Given the description of an element on the screen output the (x, y) to click on. 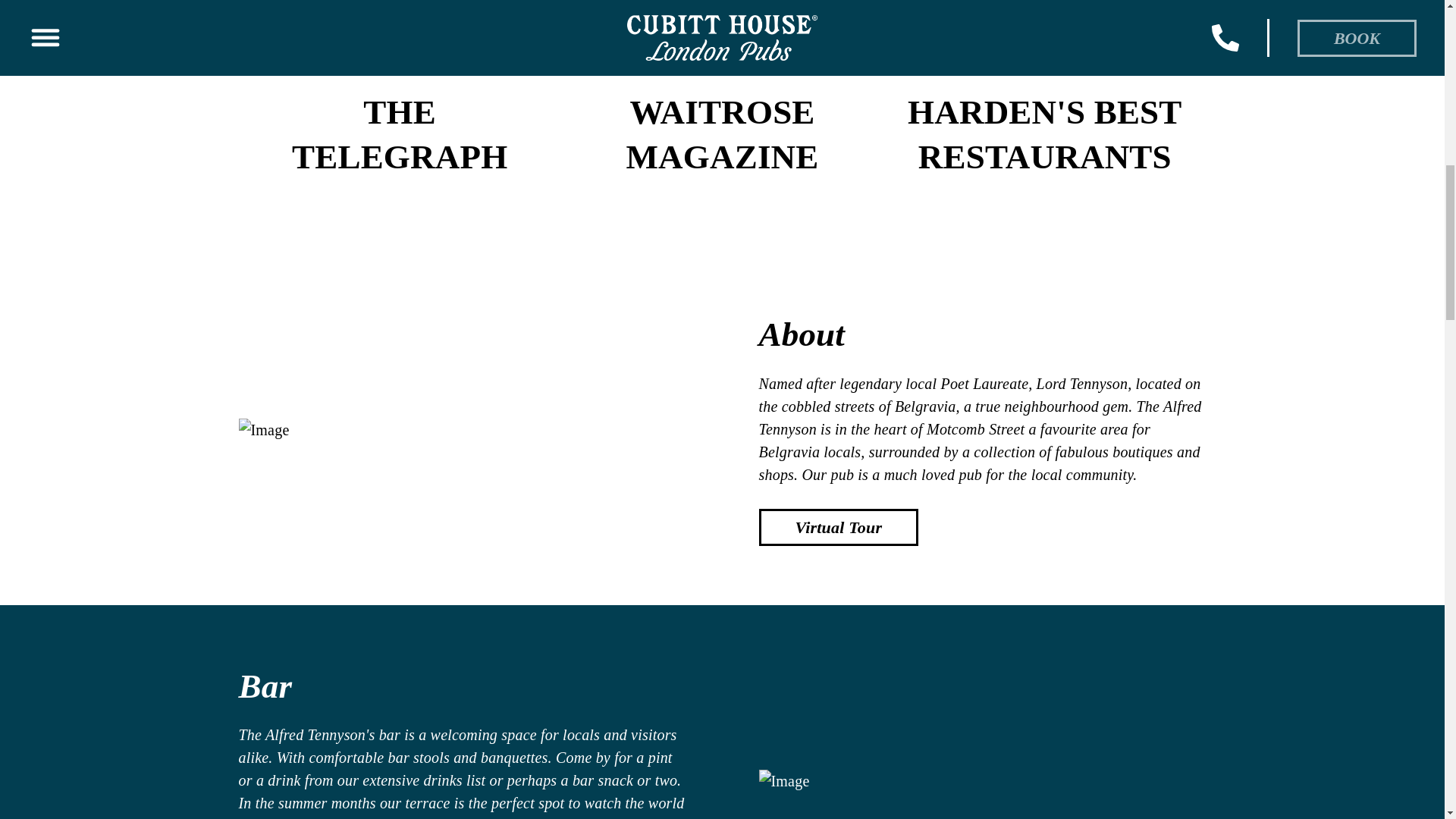
Virtual Tour (399, 134)
CUBITT HOUSE (838, 526)
